Given the description of an element on the screen output the (x, y) to click on. 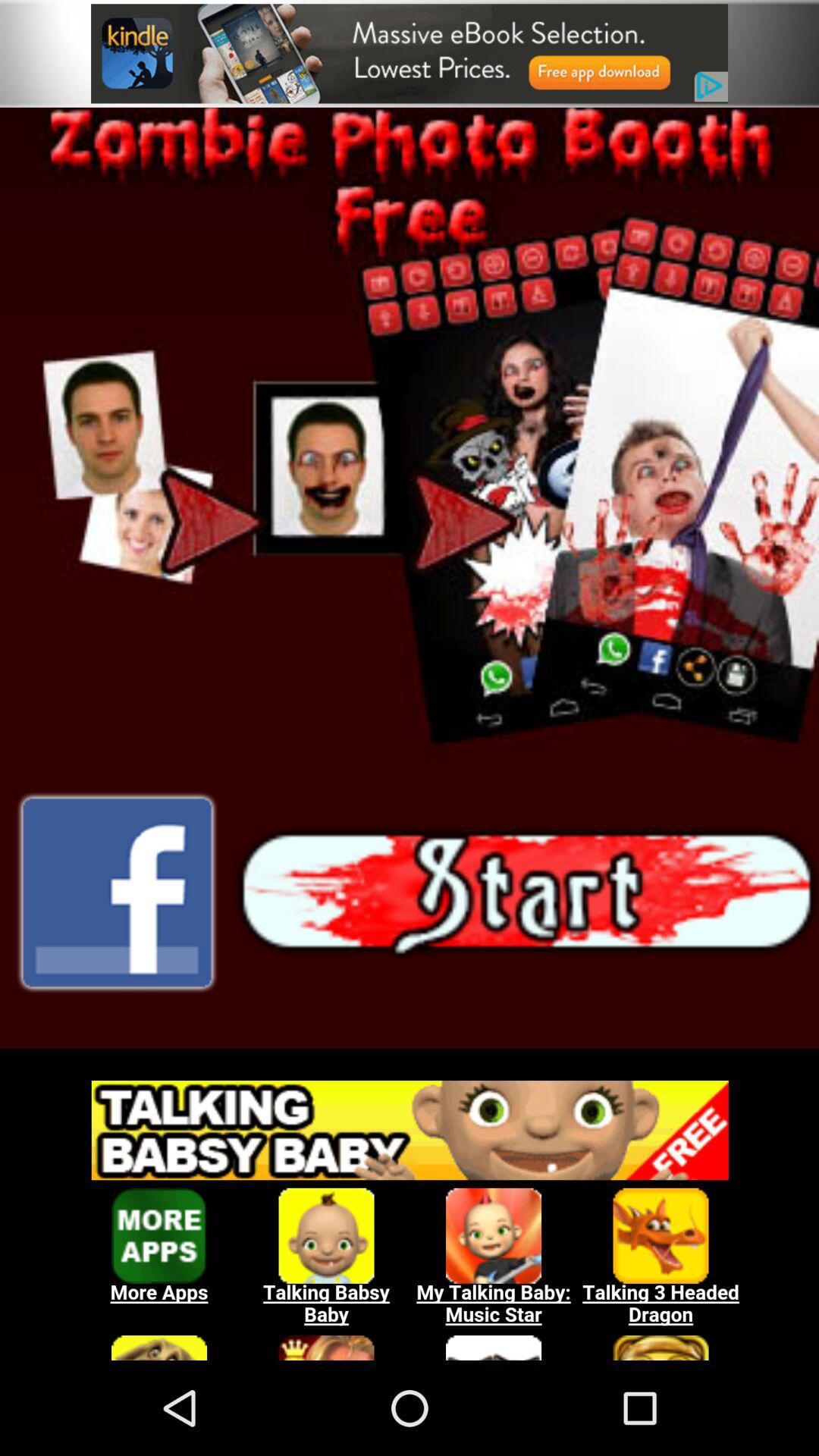
share to facebook (117, 892)
